Given the description of an element on the screen output the (x, y) to click on. 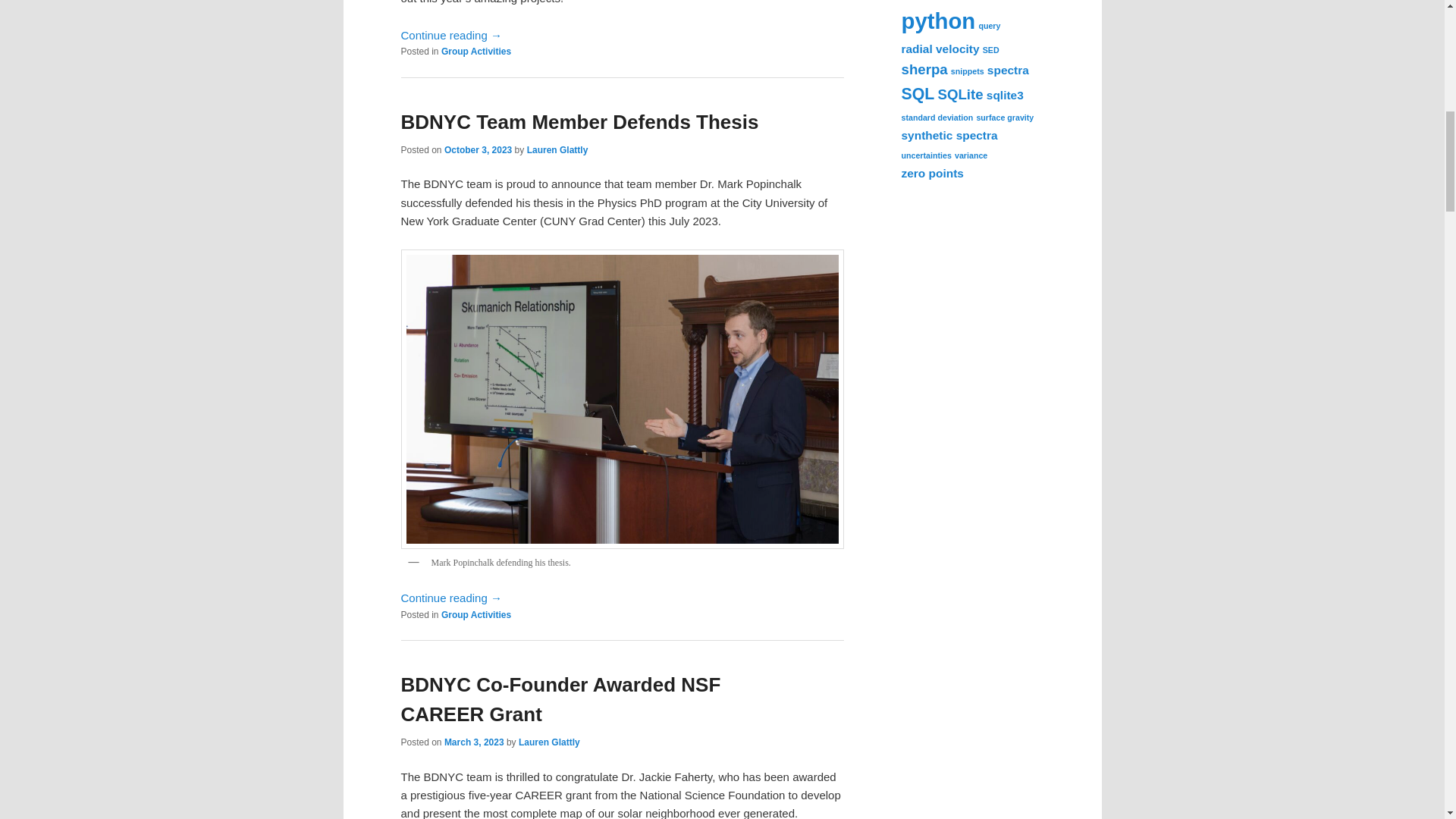
Group Activities (476, 50)
March 3, 2023 (473, 742)
October 3, 2023 (478, 149)
View all posts by Lauren Glattly (557, 149)
View all posts by Lauren Glattly (548, 742)
Group Activities (476, 614)
BDNYC Co-Founder Awarded NSF CAREER Grant (560, 699)
2:28 pm (478, 149)
BDNYC Team Member Defends Thesis (579, 121)
6:49 pm (473, 742)
Lauren Glattly (557, 149)
Lauren Glattly (548, 742)
